Given the description of an element on the screen output the (x, y) to click on. 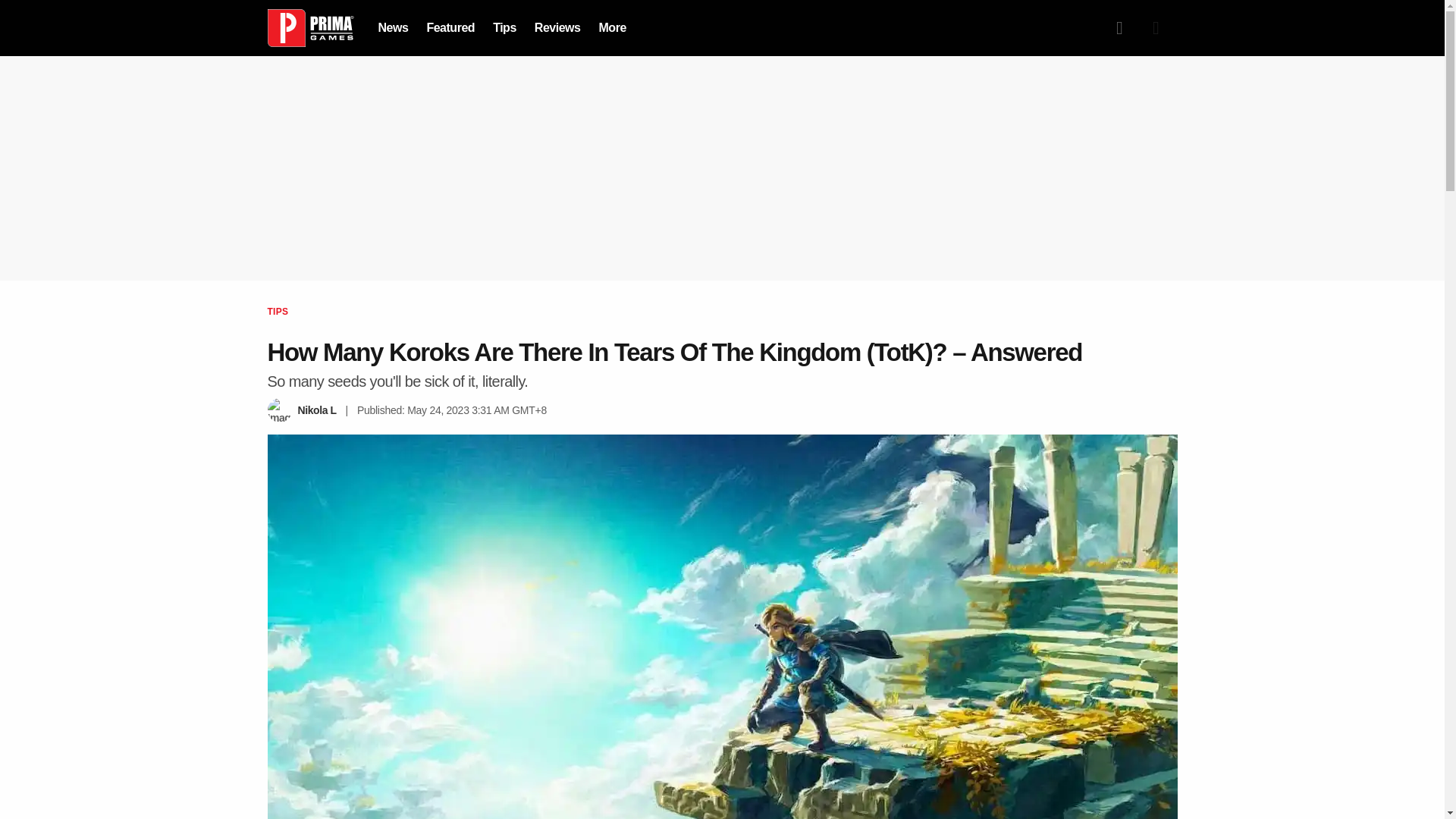
Reviews (557, 27)
Search (1118, 28)
Featured (450, 27)
News (392, 27)
Tips (504, 27)
Dark Mode (1155, 28)
